Given the description of an element on the screen output the (x, y) to click on. 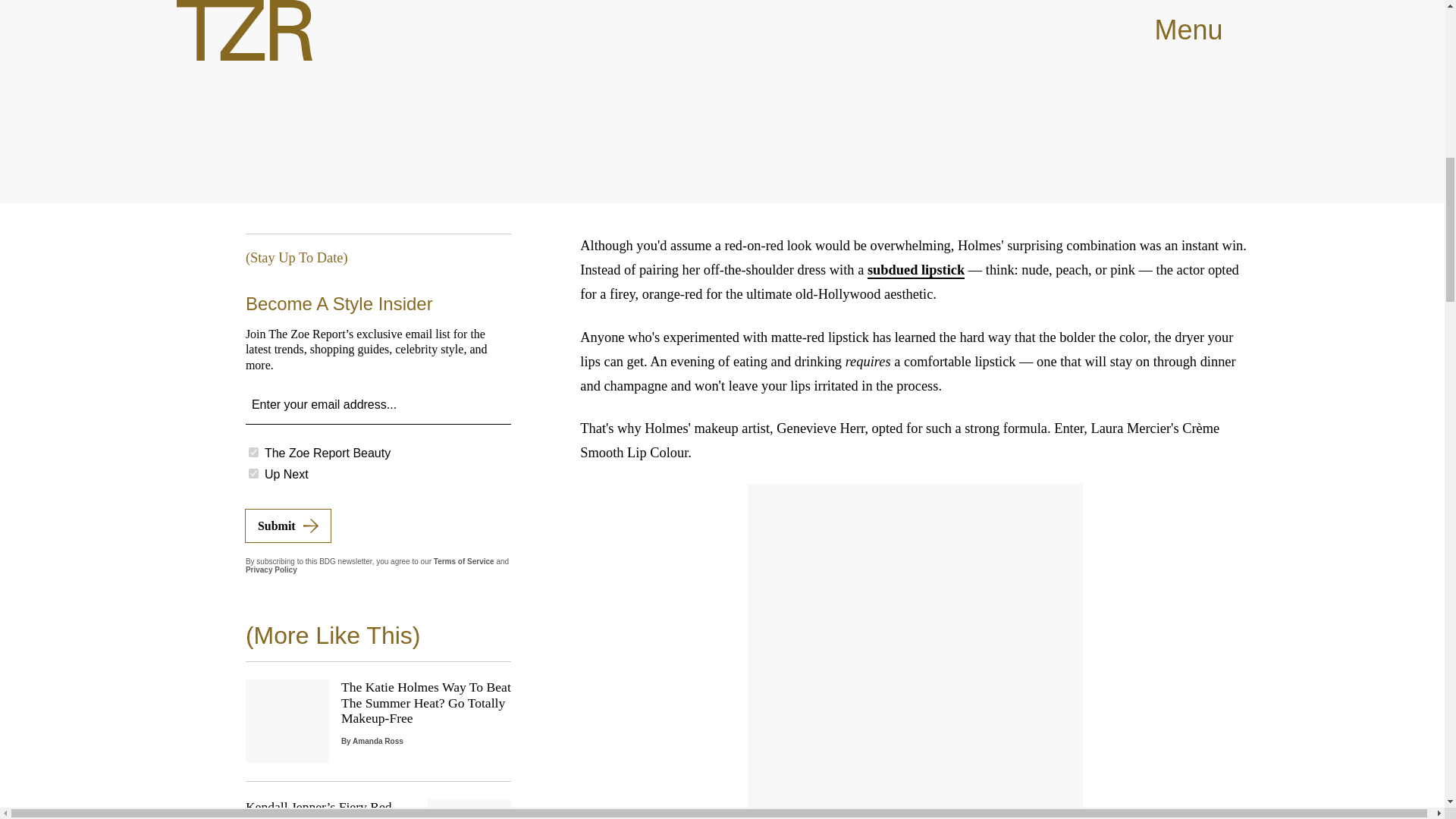
Terms of Service (464, 561)
Privacy Policy (271, 569)
subdued lipstick (915, 270)
Submit (288, 525)
